Given the description of an element on the screen output the (x, y) to click on. 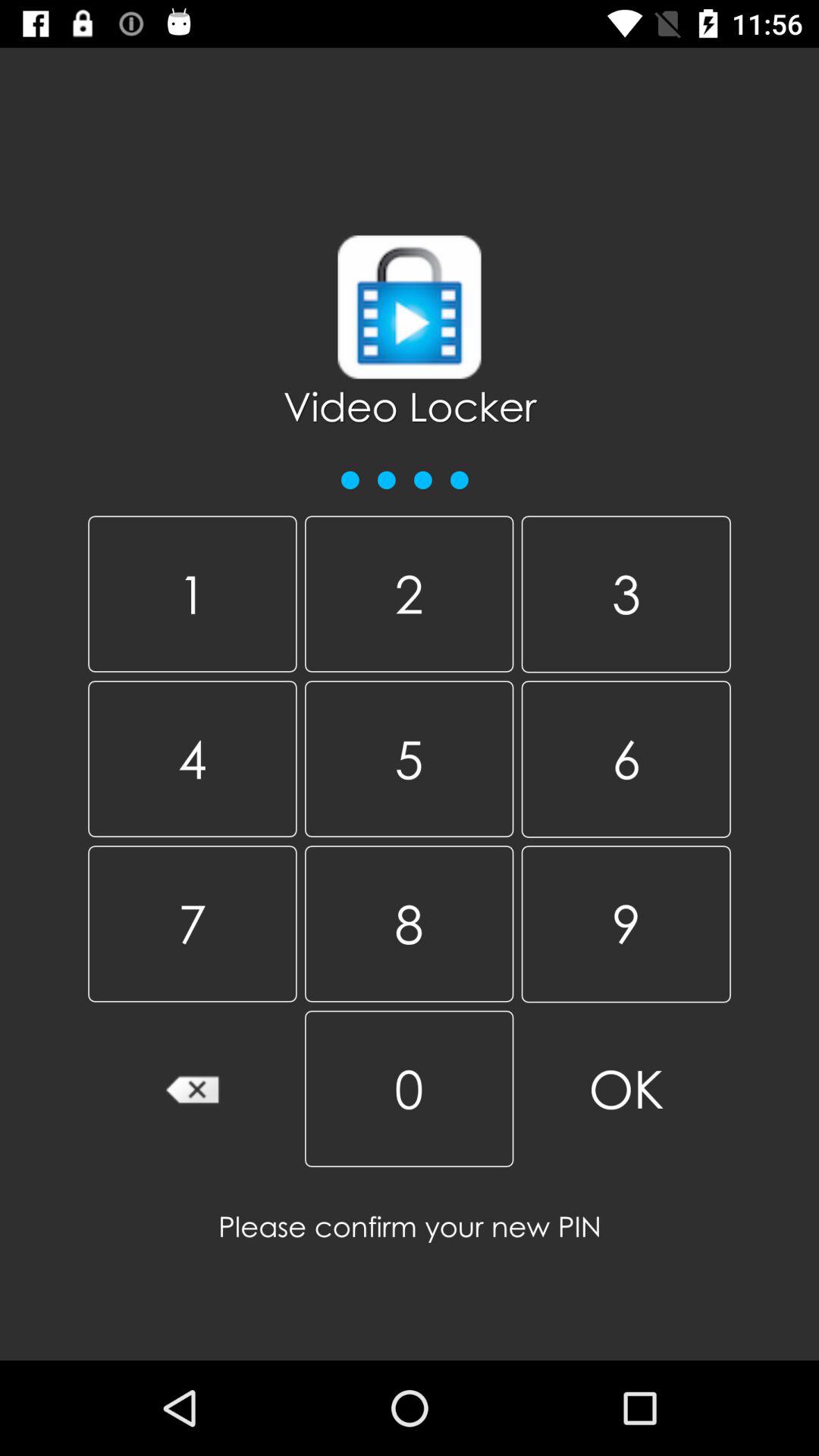
backspace button (192, 1088)
